Given the description of an element on the screen output the (x, y) to click on. 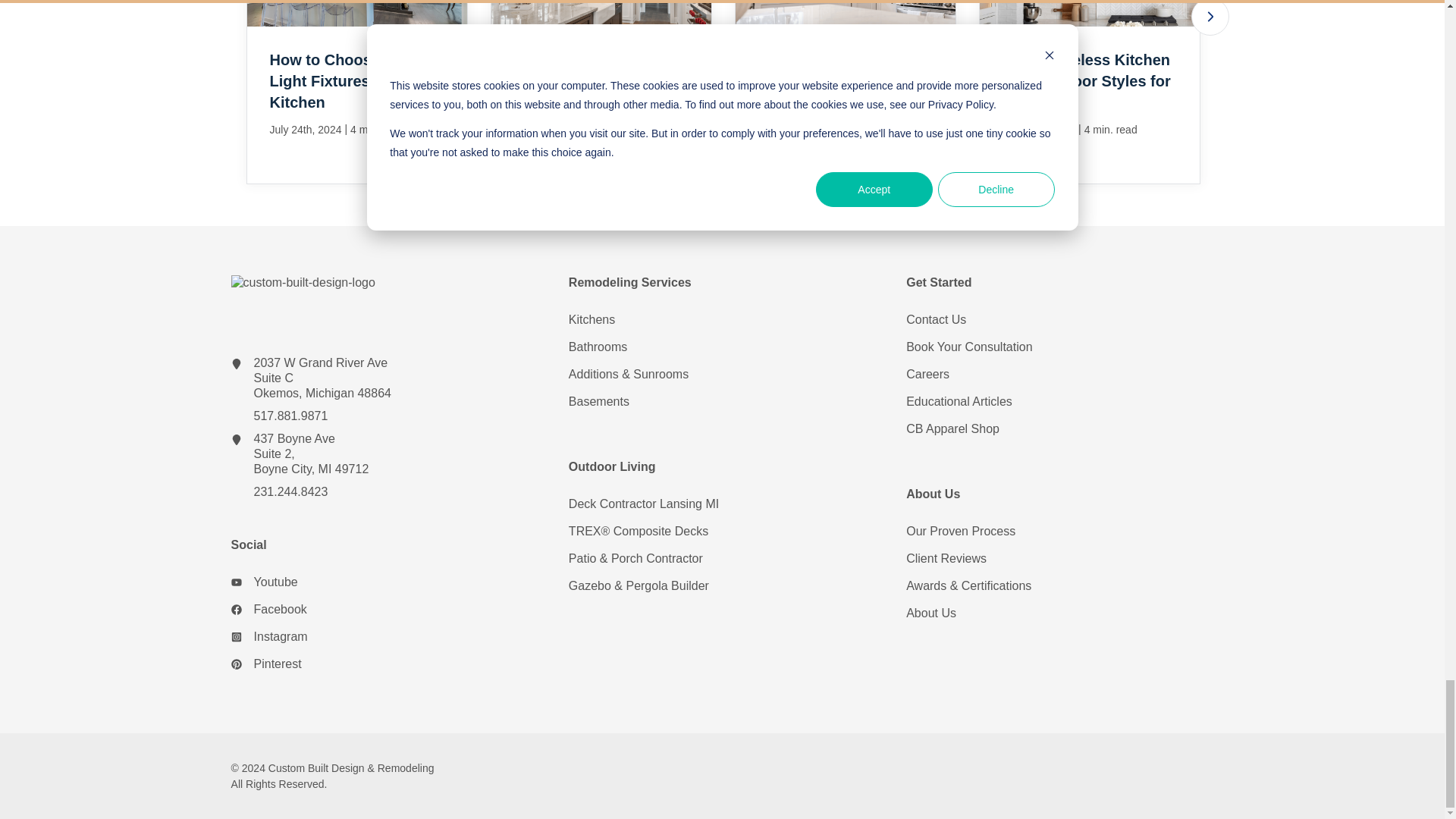
How to Choose the Best Light Fixtures for Your Kitchen (356, 92)
Top 6 Timeless Kitchen Cabinet Door Styles for 2024 (1088, 92)
How Much Do Kitchen Countertops Cost in Lansing, Michigan? (600, 92)
6 Essential Considerations for Choosing Kitchen Countertops (844, 92)
